Given the description of an element on the screen output the (x, y) to click on. 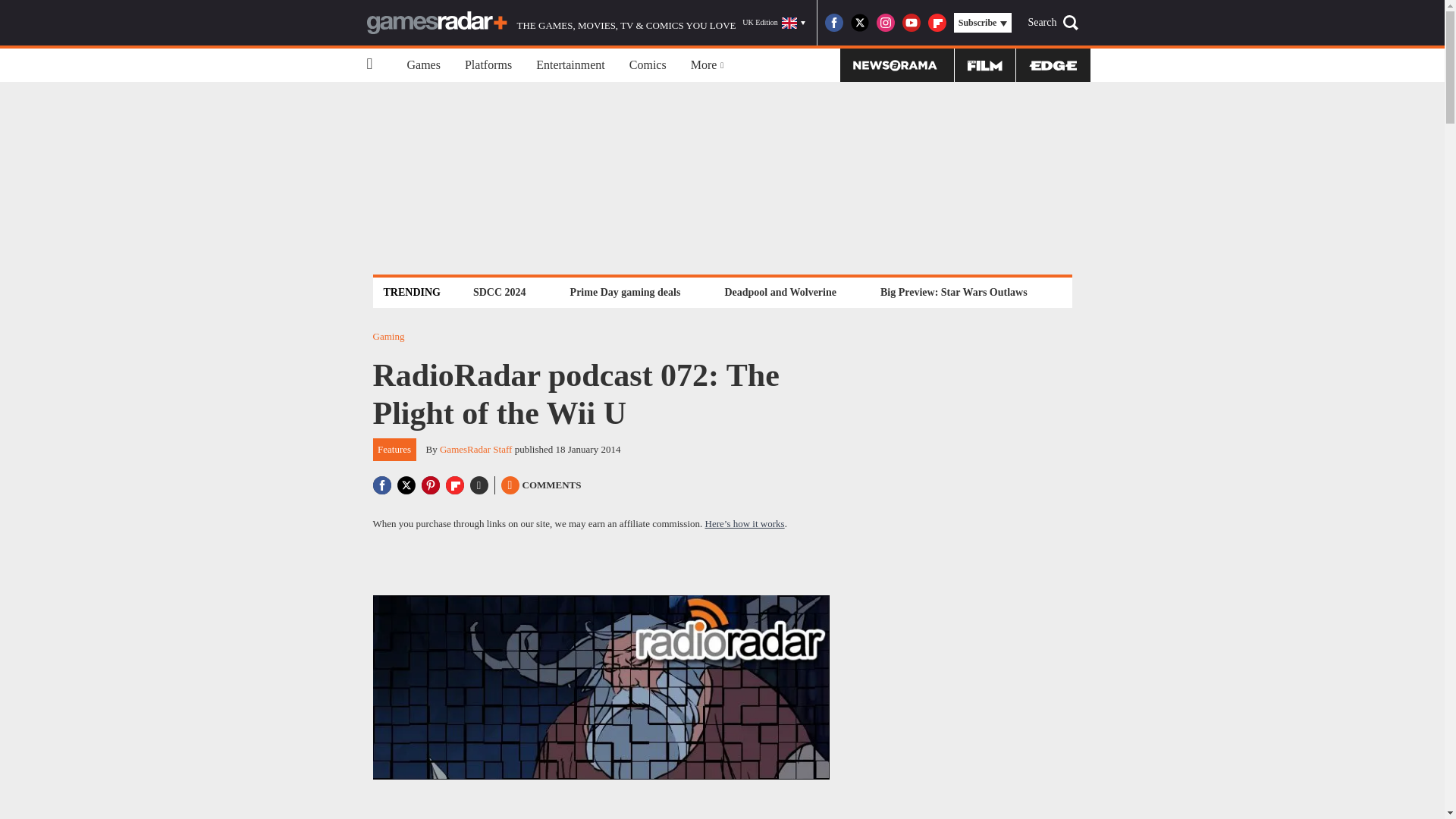
SDCC 2024 (499, 292)
Entertainment (570, 64)
UK Edition (773, 22)
Comics (647, 64)
Big Preview: Star Wars Outlaws (953, 292)
Platforms (488, 64)
Games (422, 64)
Prime Day gaming deals (624, 292)
Deadpool and Wolverine (780, 292)
